Given the description of an element on the screen output the (x, y) to click on. 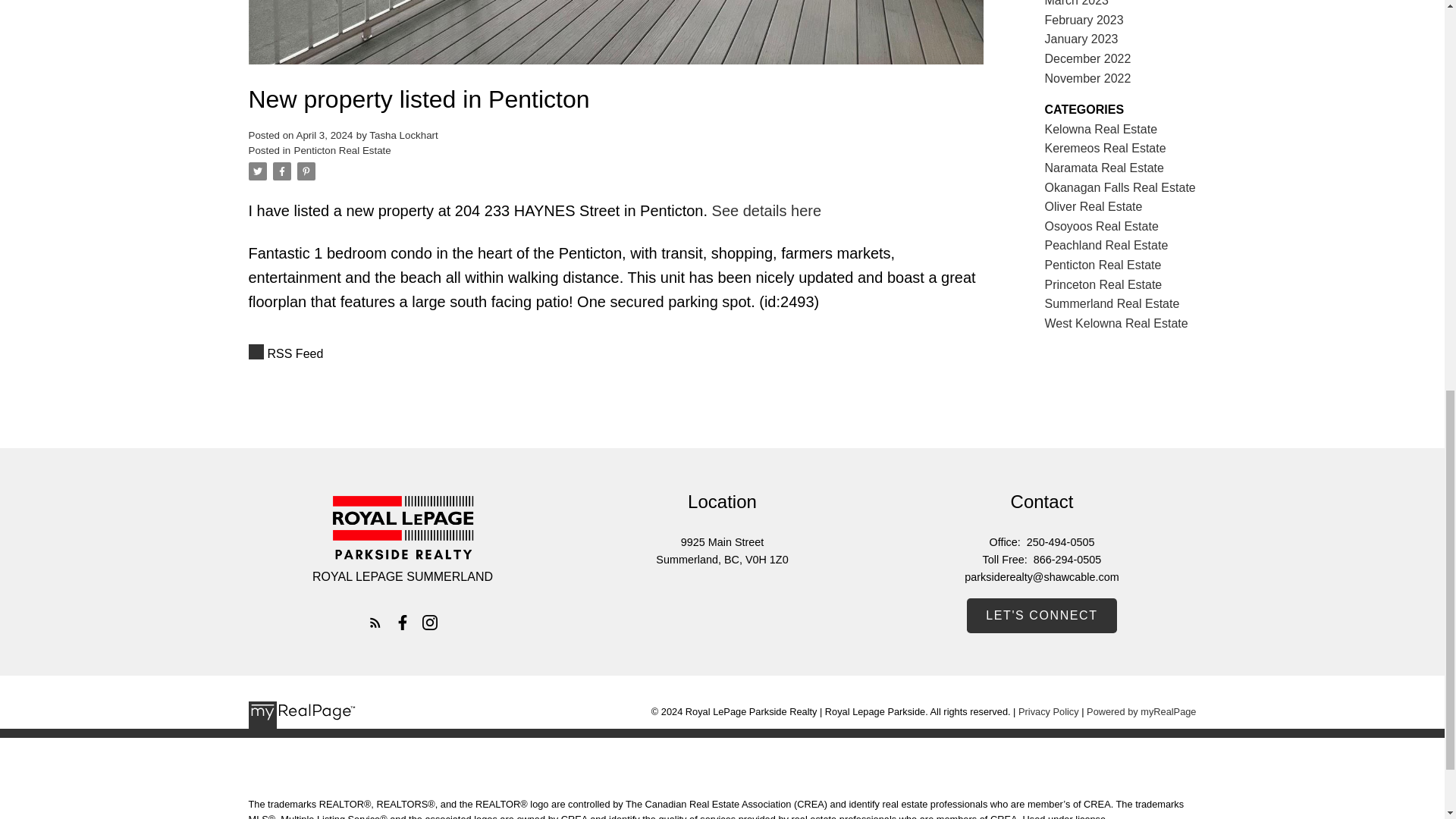
Penticton Real Estate (342, 150)
RSS (616, 353)
See details here (766, 210)
